Given the description of an element on the screen output the (x, y) to click on. 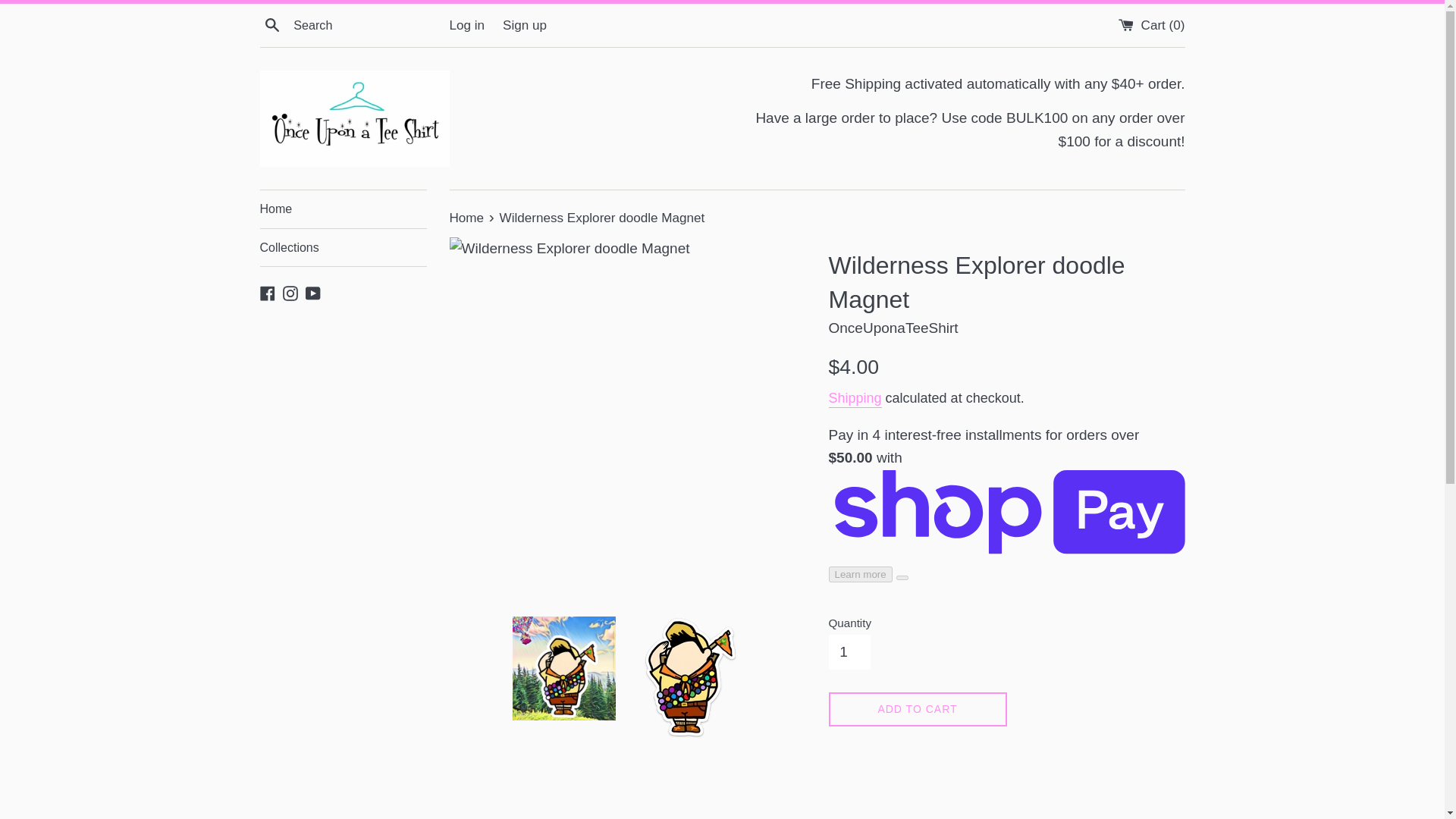
1 (848, 651)
Sign up (524, 25)
Home (467, 217)
Log in (466, 25)
Search (271, 24)
Facebook (267, 292)
Back to the frontpage (467, 217)
OnceUponaTeeShirt on Facebook (267, 292)
YouTube (312, 292)
Instagram (290, 292)
